Given the description of an element on the screen output the (x, y) to click on. 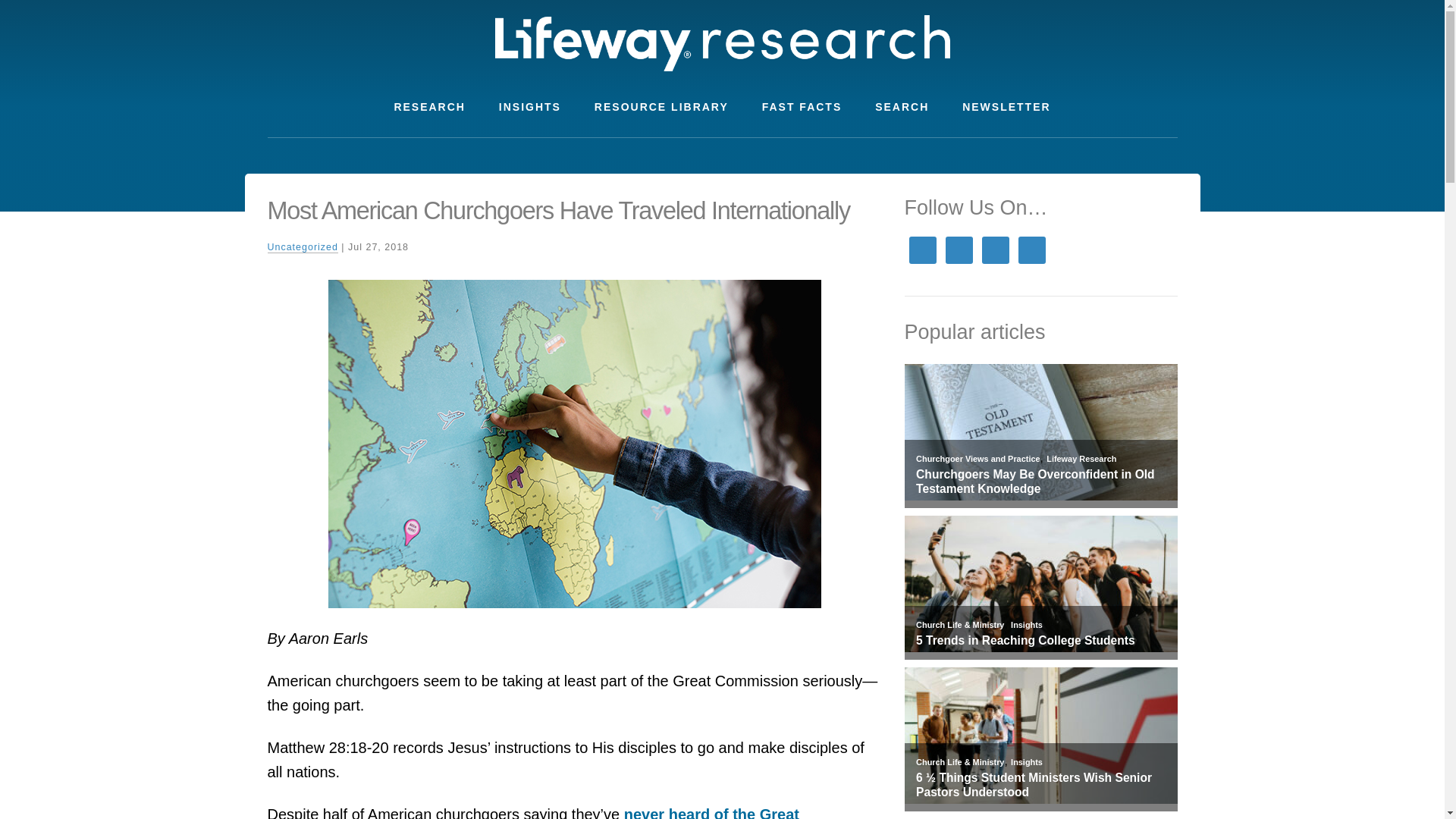
Churchgoers May Be Overconfident in Old Testament Knowledge (1040, 481)
Insights (1026, 624)
never heard of the Great Commission (531, 812)
SEARCH (901, 106)
RESEARCH (429, 106)
Insights (1026, 761)
INSIGHTS (529, 106)
Uncategorized (301, 247)
FAST FACTS (801, 106)
